Given the description of an element on the screen output the (x, y) to click on. 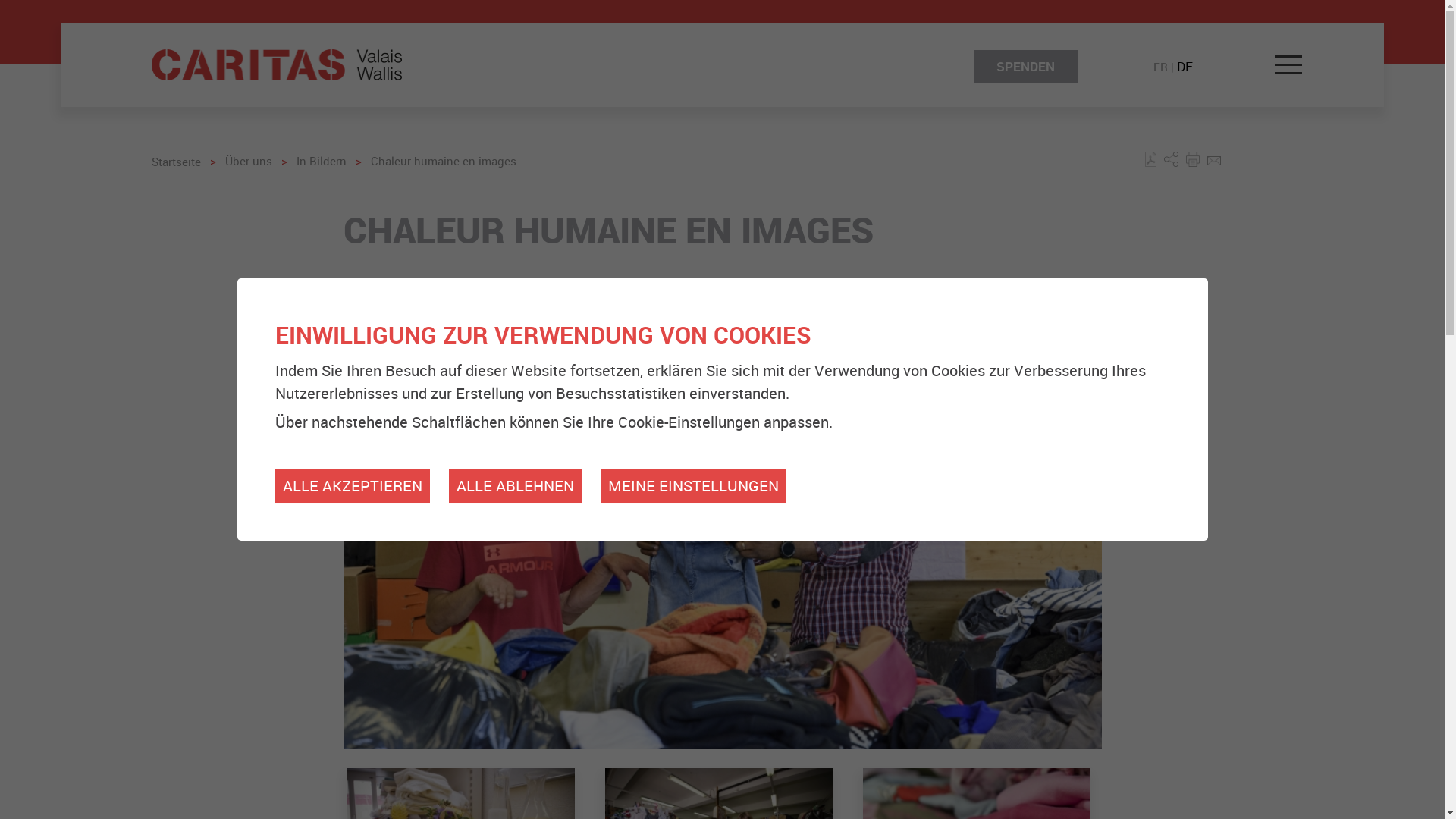
SPENDEN Element type: text (1025, 66)
ALLE AKZEPTIEREN Element type: text (351, 485)
ALLE ABLEHNEN Element type: text (514, 485)
Chaleur humaine en images Element type: text (443, 160)
In Bildern Element type: text (321, 160)
Inhalt dieser Seite drucken Element type: hover (1192, 160)
Diese Seite als PDF-Datei laden Element type: hover (1150, 160)
Startseite Element type: text (175, 160)
FR Element type: text (1160, 66)
Diese Adresse einem Freund empfehlen Element type: hover (1213, 160)
DE Element type: text (1184, 66)
MEINE EINSTELLUNGEN Element type: text (693, 485)
